Given the description of an element on the screen output the (x, y) to click on. 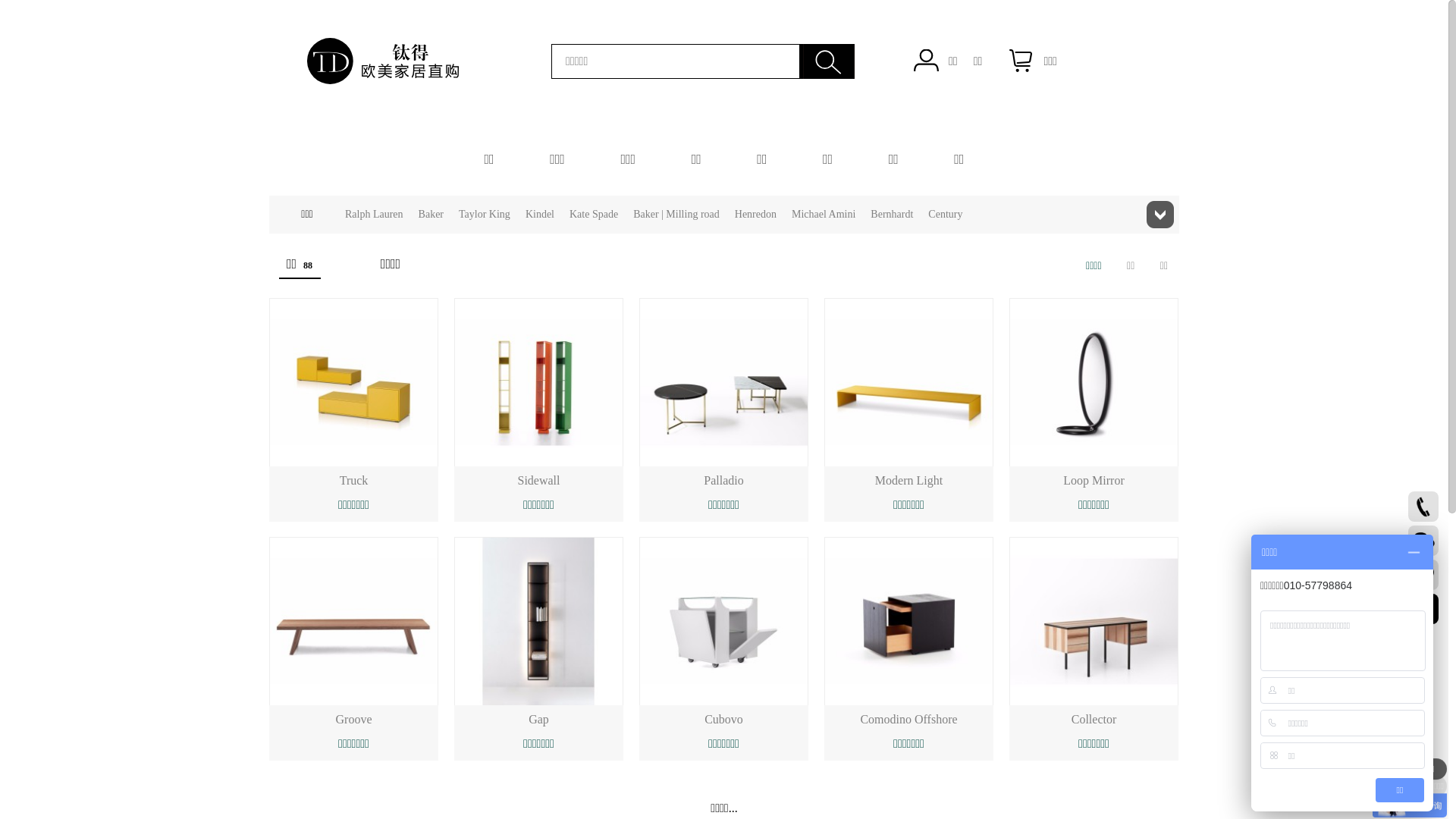
Gap Element type: text (538, 718)
Loop Mirror Element type: text (1093, 479)
Taylor King Element type: text (484, 214)
Truck Element type: text (353, 479)
Kindel Element type: text (539, 214)
Baker | Milling road Element type: text (676, 214)
Palladio Element type: text (723, 479)
Modern Light Element type: text (908, 479)
Henredon Element type: text (755, 214)
Sidewall Element type: text (538, 479)
Ralph Lauren Element type: text (374, 214)
Collector Element type: text (1094, 718)
Cubovo Element type: text (723, 718)
Century Element type: text (945, 214)
Bernhardt Element type: text (891, 214)
Baker Element type: text (430, 214)
Kate Spade Element type: text (593, 214)
Michael Amini Element type: text (823, 214)
Comodino Offshore Element type: text (908, 718)
Groove Element type: text (353, 718)
